Given the description of an element on the screen output the (x, y) to click on. 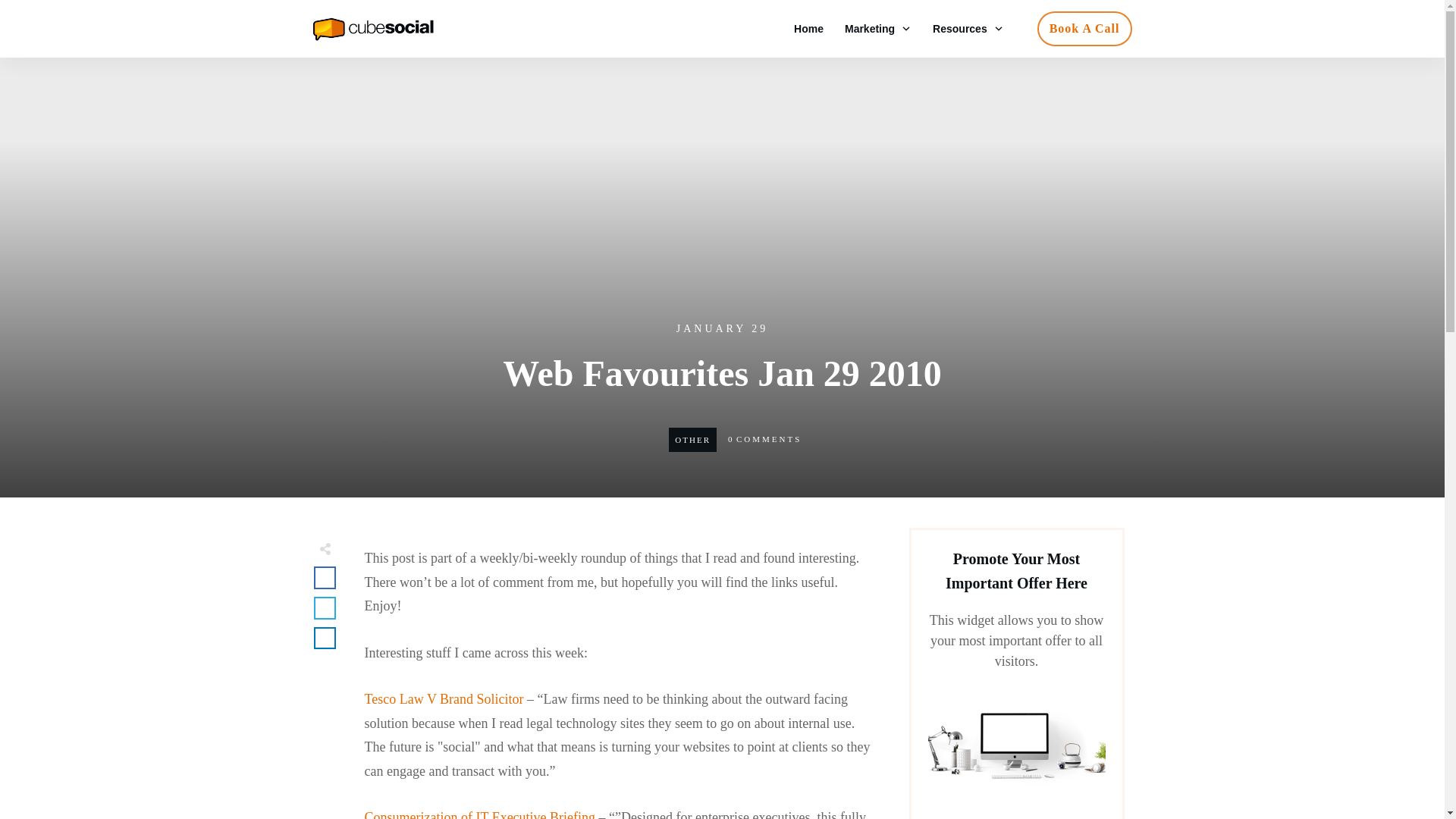
Home (808, 28)
Resources (968, 28)
Consumerization of IT Executive Briefing (479, 814)
Marketing (877, 28)
Book A Call (1084, 28)
Tesco Law V Brand Solicitor (443, 698)
